Given the description of an element on the screen output the (x, y) to click on. 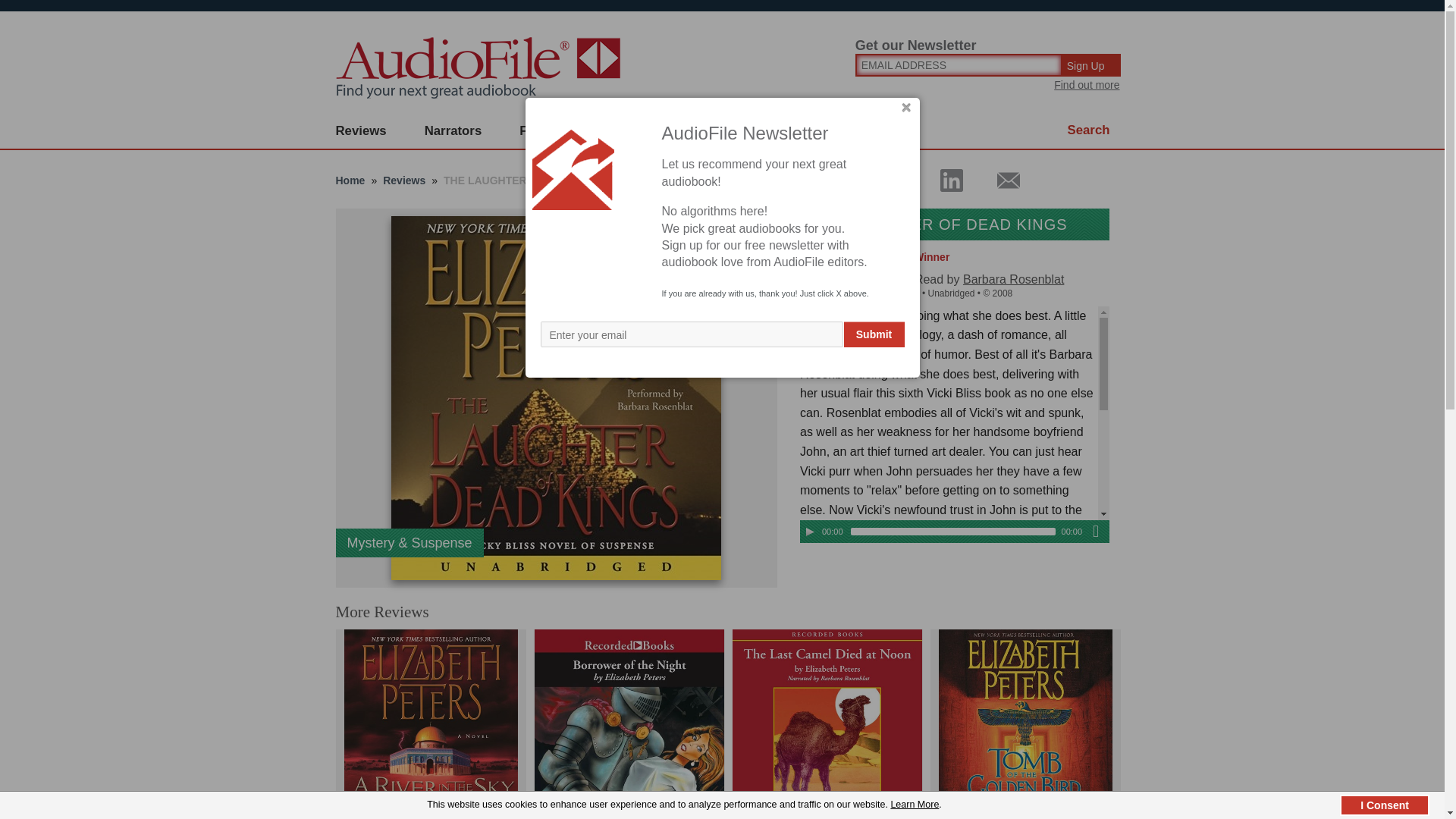
Features (545, 131)
Sign Up (1091, 65)
Articles (808, 131)
Narrators (453, 131)
AudioFileMagazine - Share by Email (999, 180)
Find out more (1086, 84)
Reviews (360, 131)
Subscribe (640, 131)
About (727, 131)
Search (1089, 130)
Submit (873, 334)
Mute Toggle (1095, 531)
